Given the description of an element on the screen output the (x, y) to click on. 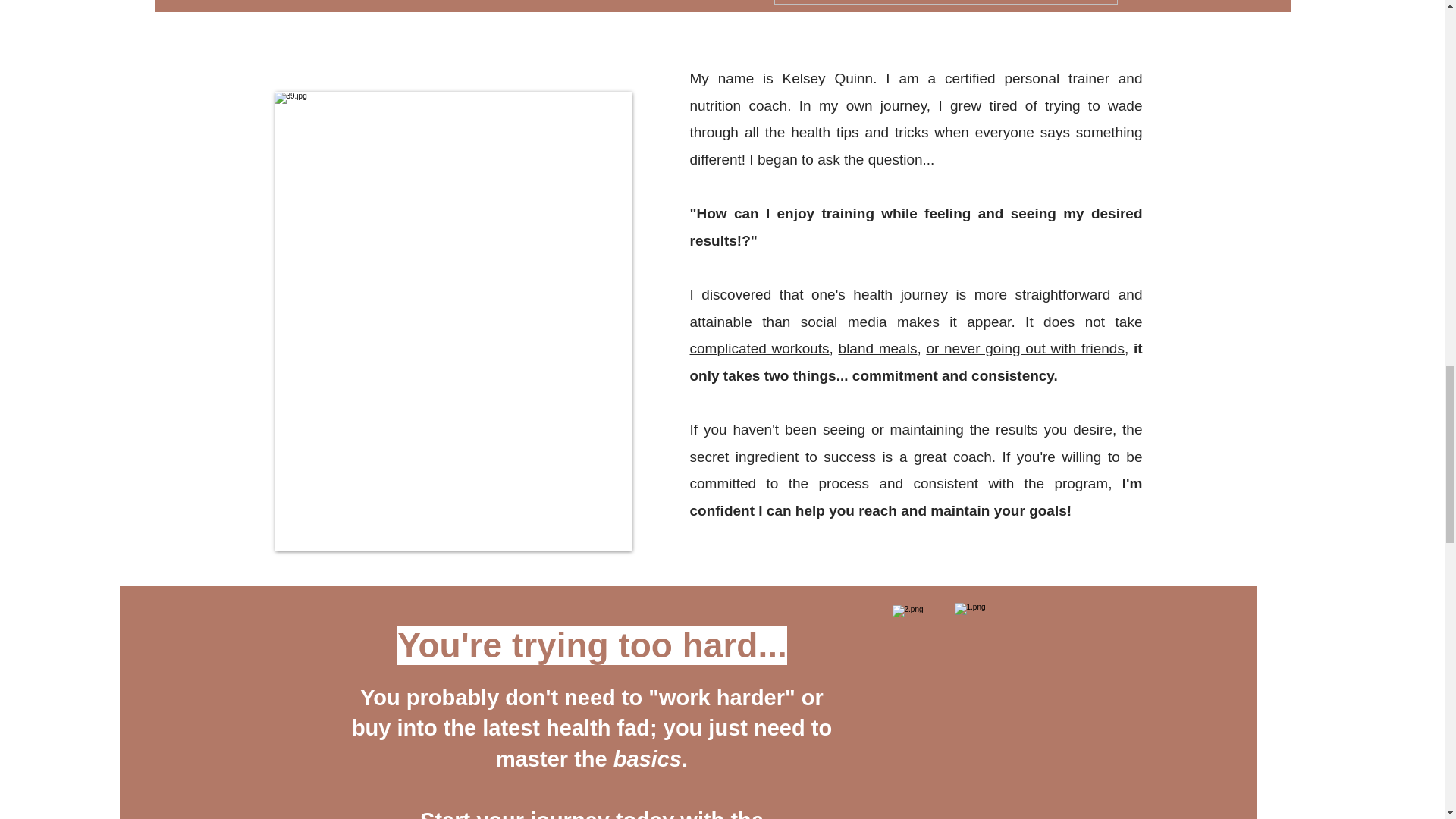
1.png (1016, 710)
2.png (949, 712)
